Given the description of an element on the screen output the (x, y) to click on. 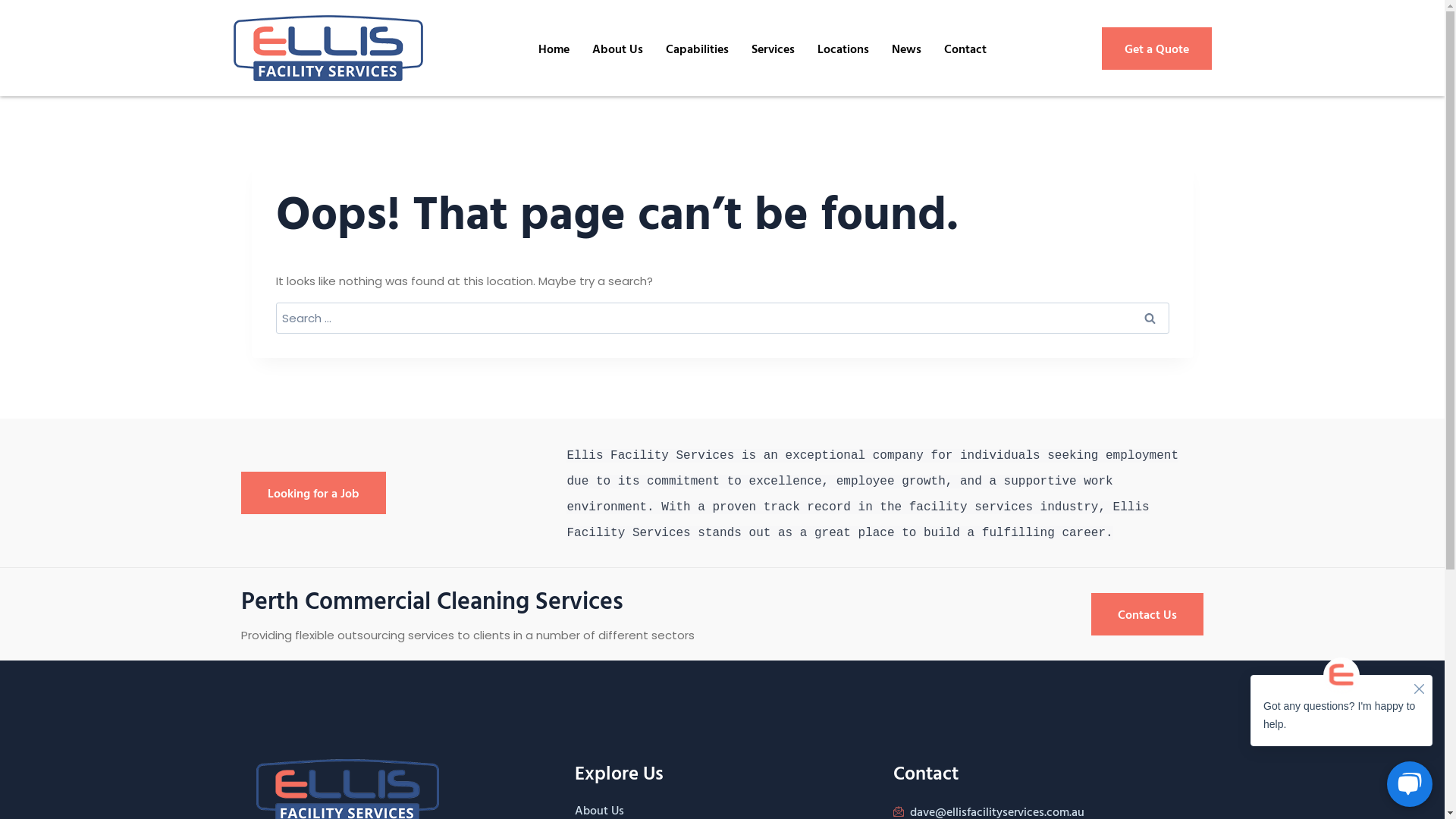
Get a Quote Element type: text (1156, 48)
Search Element type: text (1150, 317)
Contact Us Element type: text (1147, 614)
Services Element type: text (773, 48)
Home Element type: text (553, 48)
Capabilities Element type: text (696, 48)
News Element type: text (905, 48)
Locations Element type: text (842, 48)
Contact Element type: text (964, 48)
Looking for a Job Element type: text (313, 492)
About Us Element type: text (617, 48)
